Given the description of an element on the screen output the (x, y) to click on. 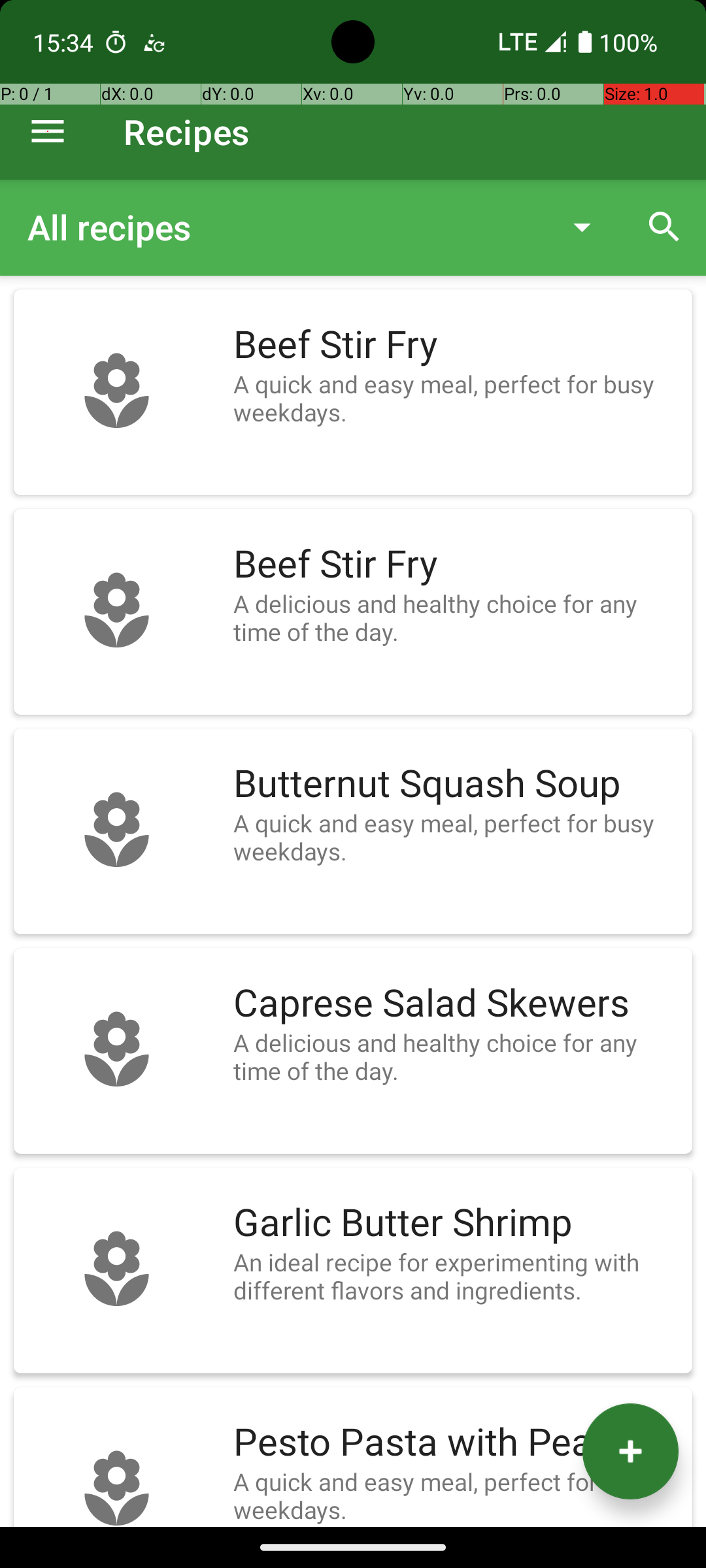
Pesto Pasta with Peas Element type: android.widget.TextView (455, 1442)
